Given the description of an element on the screen output the (x, y) to click on. 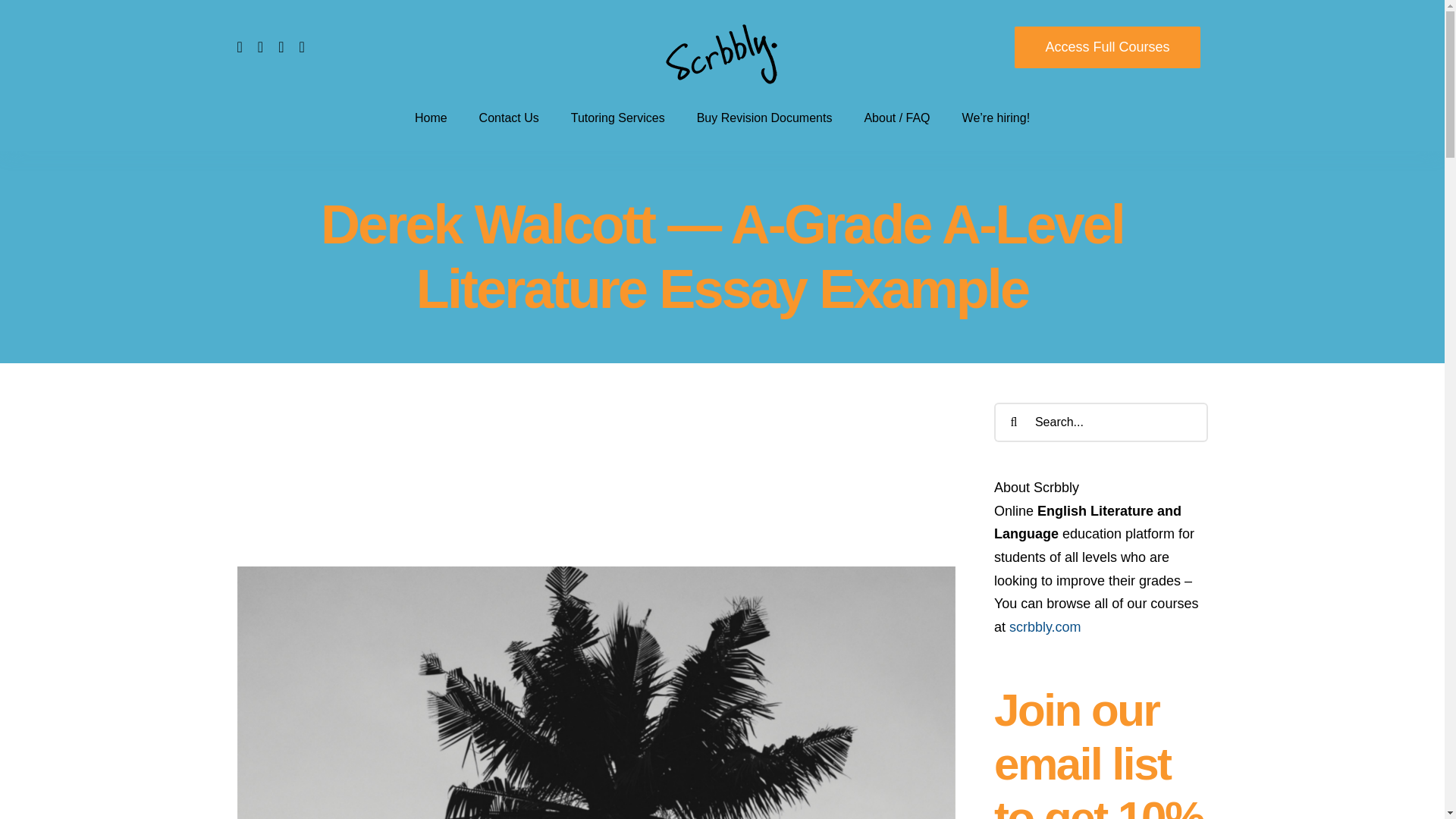
Access Full Courses (1106, 46)
Tutoring Services (617, 117)
Buy Revision Documents (764, 117)
Home (430, 117)
Advertisement (596, 484)
Contact Us (508, 117)
